Given the description of an element on the screen output the (x, y) to click on. 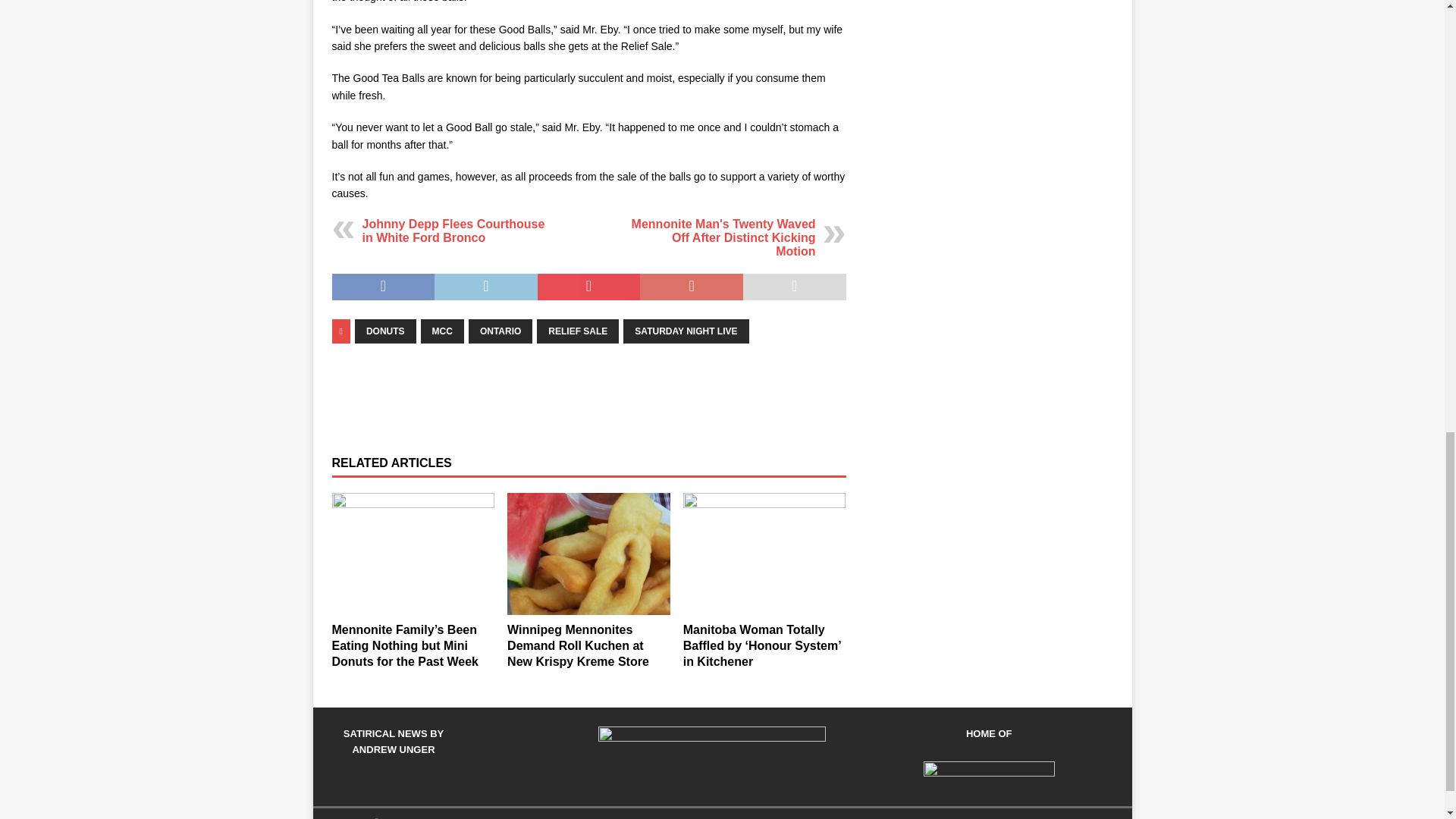
Johnny Depp Flees Courthouse in White Ford Bronco (453, 230)
MCC (442, 331)
ONTARIO (500, 331)
DONUTS (385, 331)
RELIEF SALE (577, 331)
SATURDAY NIGHT LIVE (685, 331)
